Given the description of an element on the screen output the (x, y) to click on. 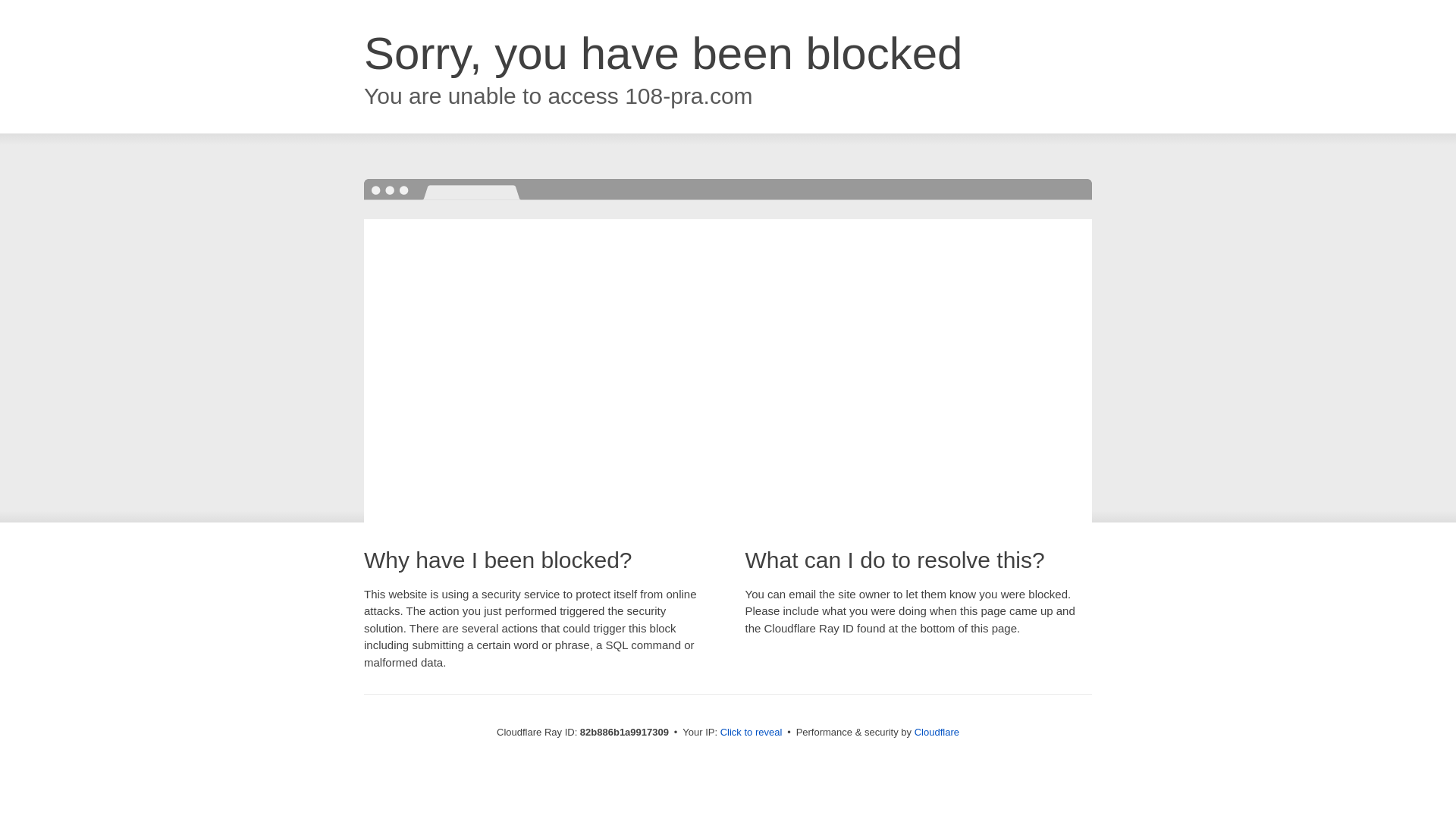
Click to reveal Element type: text (751, 732)
Cloudflare Element type: text (936, 731)
